Given the description of an element on the screen output the (x, y) to click on. 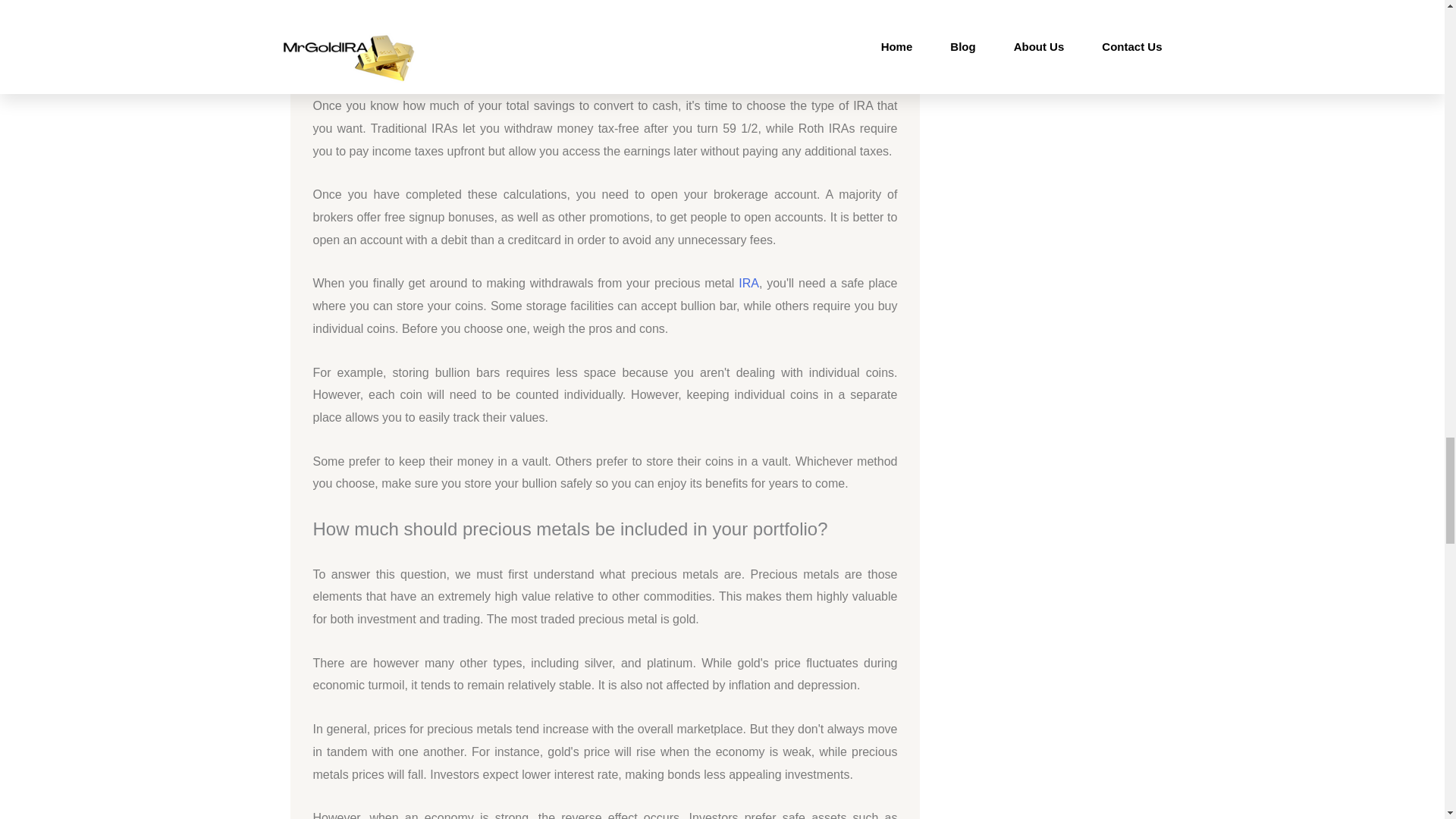
IRA (748, 282)
